Given the description of an element on the screen output the (x, y) to click on. 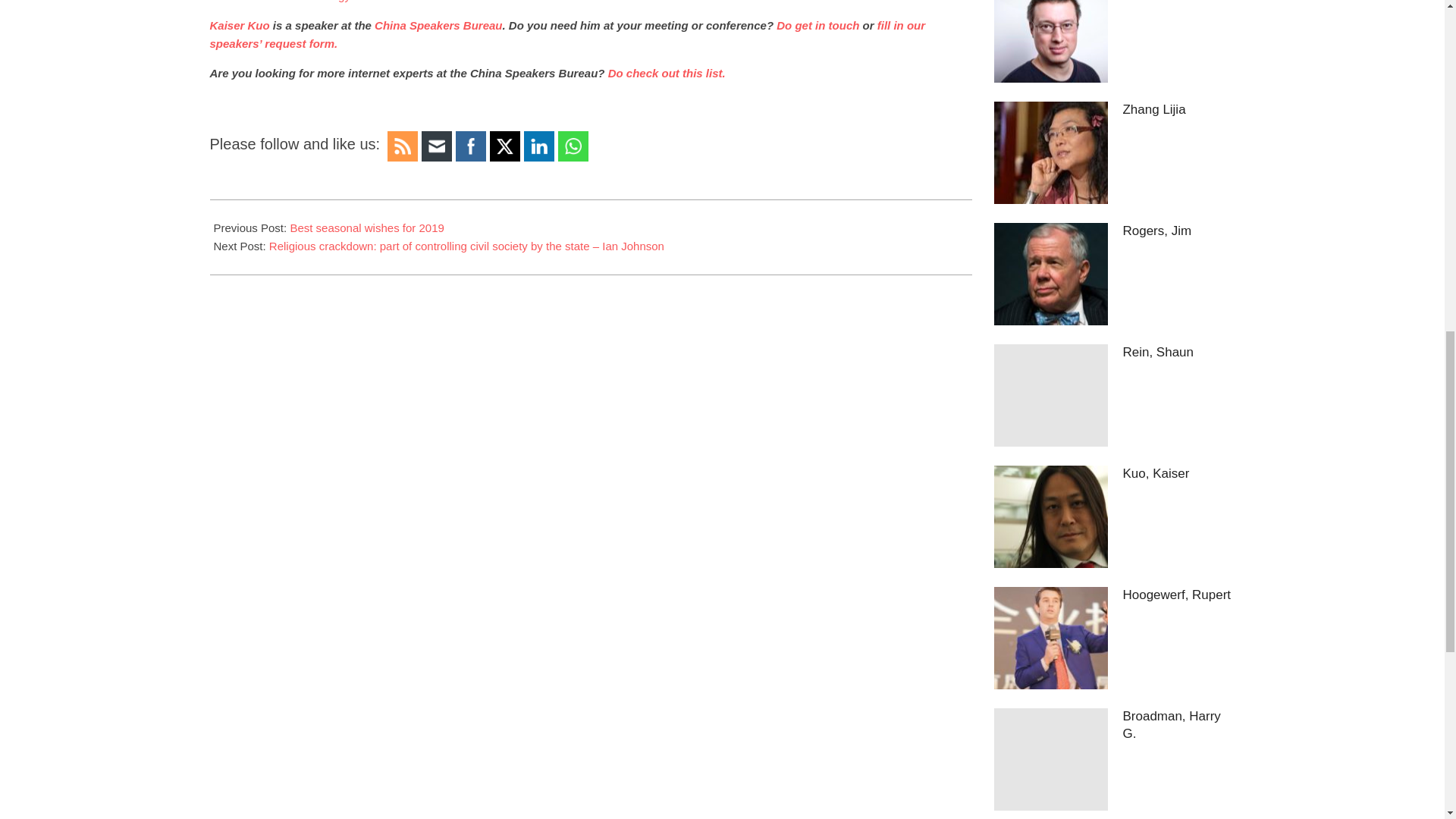
RSS (402, 146)
Twitter (504, 146)
More at the MIT Technology Review. (301, 1)
Do get in touch (817, 24)
LinkedIn (539, 146)
Follow by Email (436, 146)
Kaiser Kuo (239, 24)
Facebook (471, 146)
China Speakers Bureau (436, 24)
Do check out this list. (666, 72)
